Given the description of an element on the screen output the (x, y) to click on. 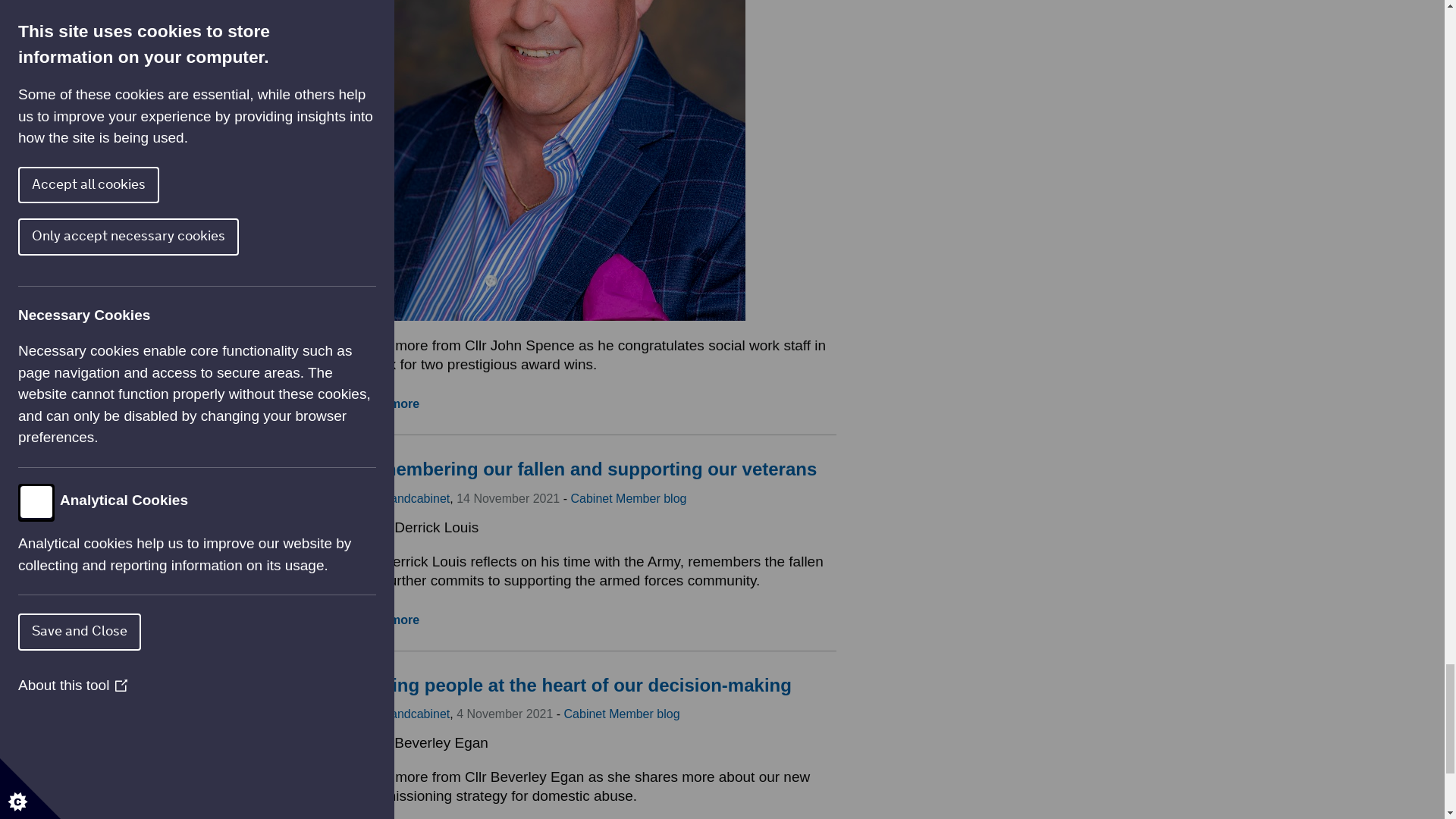
Posts by leaderandcabinet (402, 713)
Posts by leaderandcabinet (402, 498)
